Given the description of an element on the screen output the (x, y) to click on. 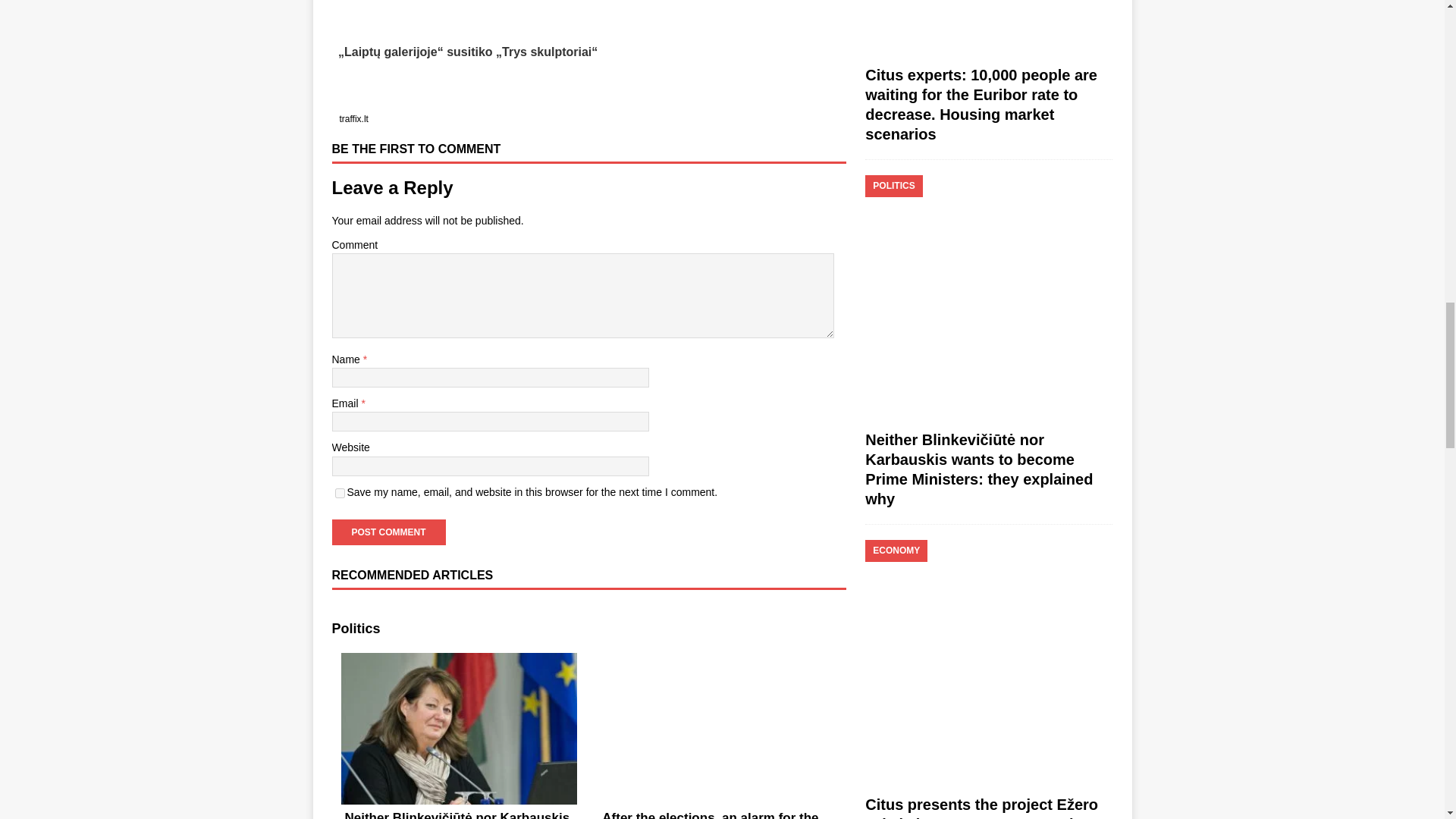
Post Comment (388, 532)
yes (339, 492)
